Given the description of an element on the screen output the (x, y) to click on. 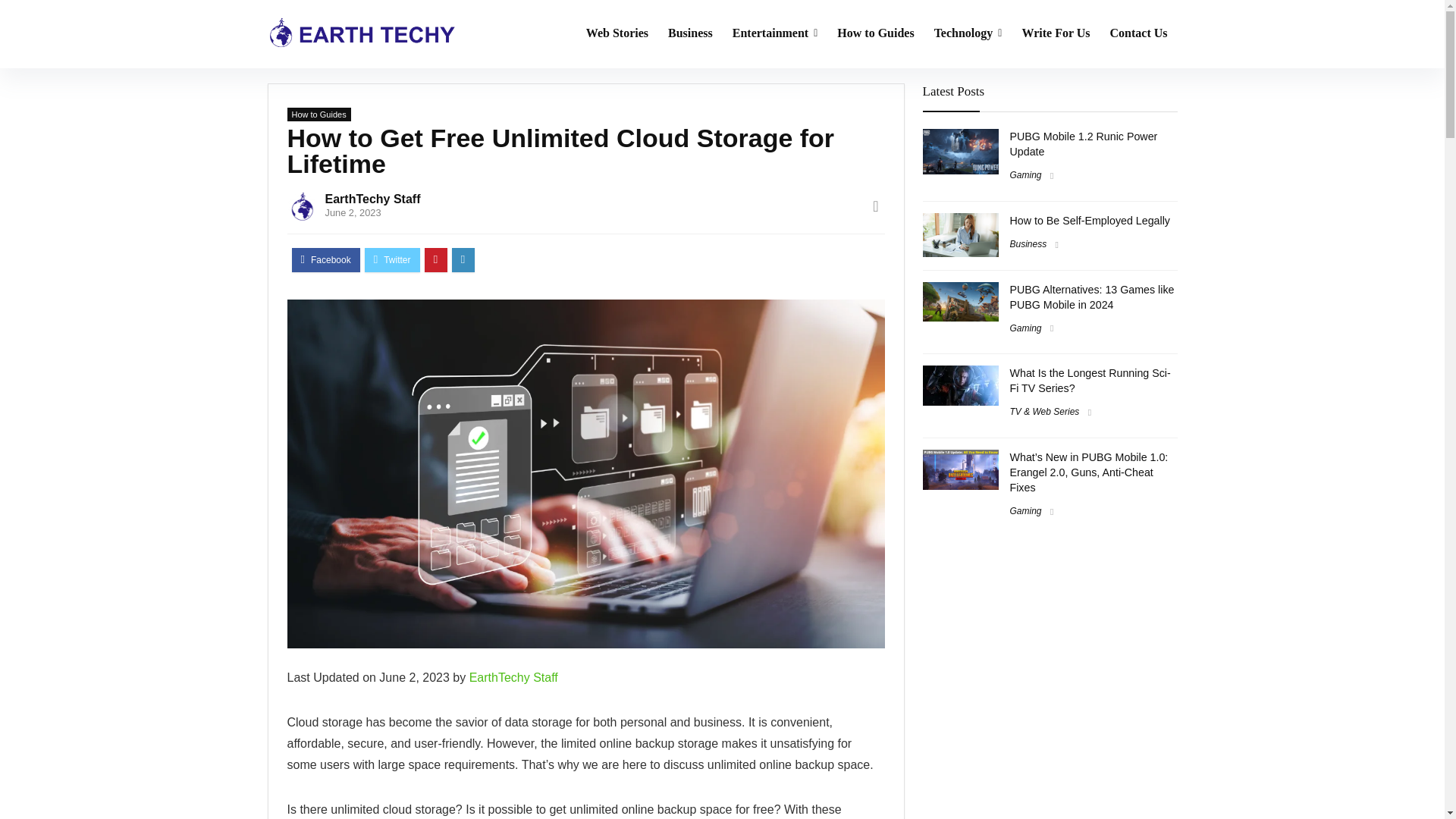
How to Guides (875, 33)
EarthTechy Staff (372, 198)
Contact Us (1137, 33)
Write For Us (1055, 33)
How to Guides (318, 114)
View all posts in How to Guides (318, 114)
Web Stories (617, 33)
Technology (967, 33)
Entertainment (775, 33)
Business (690, 33)
